Given the description of an element on the screen output the (x, y) to click on. 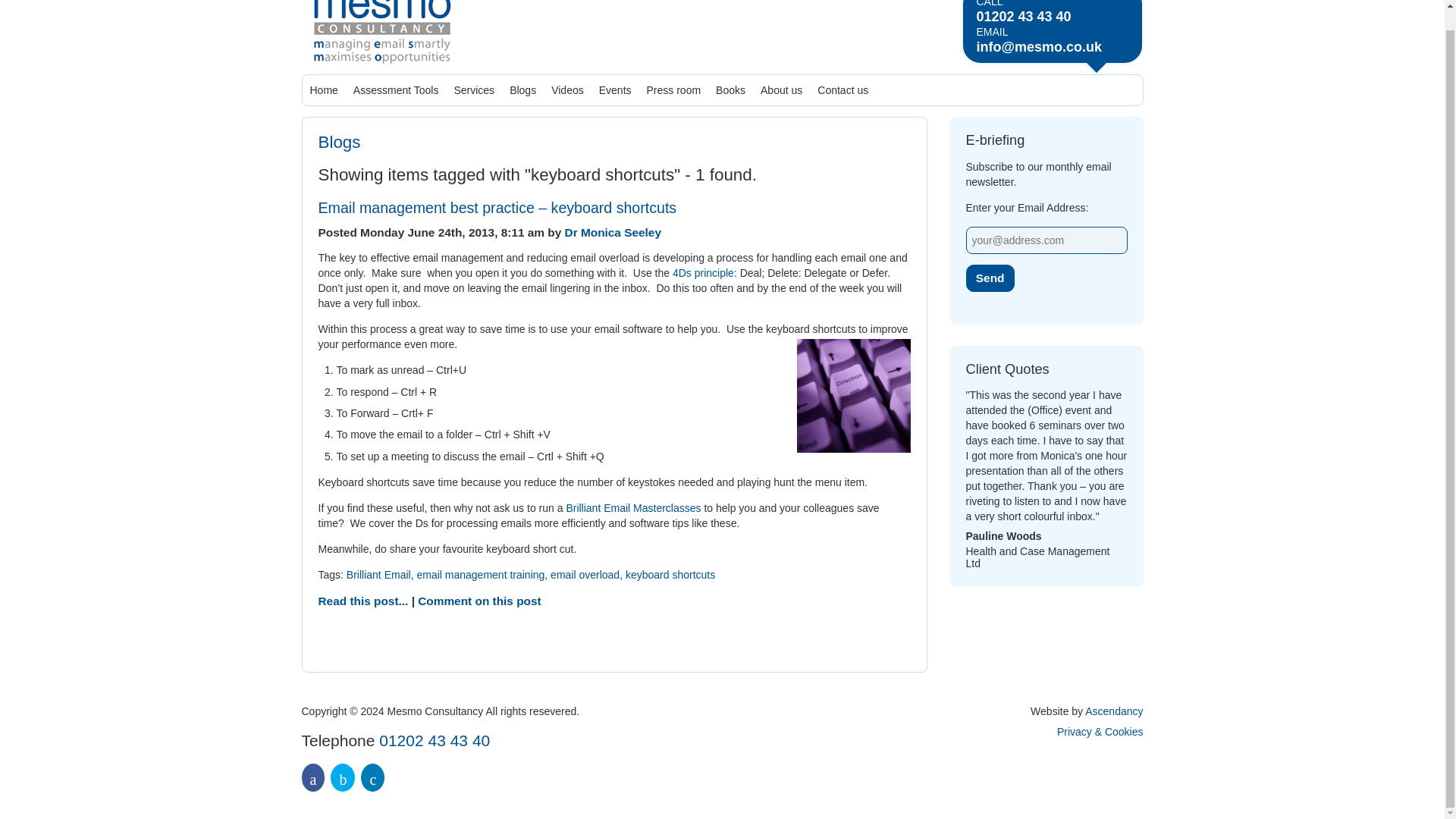
email overload (585, 574)
About us (780, 90)
01202 43 43 40 (1039, 16)
Home (323, 90)
Blogs (339, 141)
Services (473, 90)
Mesmo Consultancy (381, 34)
4Ds principle (702, 272)
email management training (480, 574)
keyboard shortcuts (670, 574)
